Given the description of an element on the screen output the (x, y) to click on. 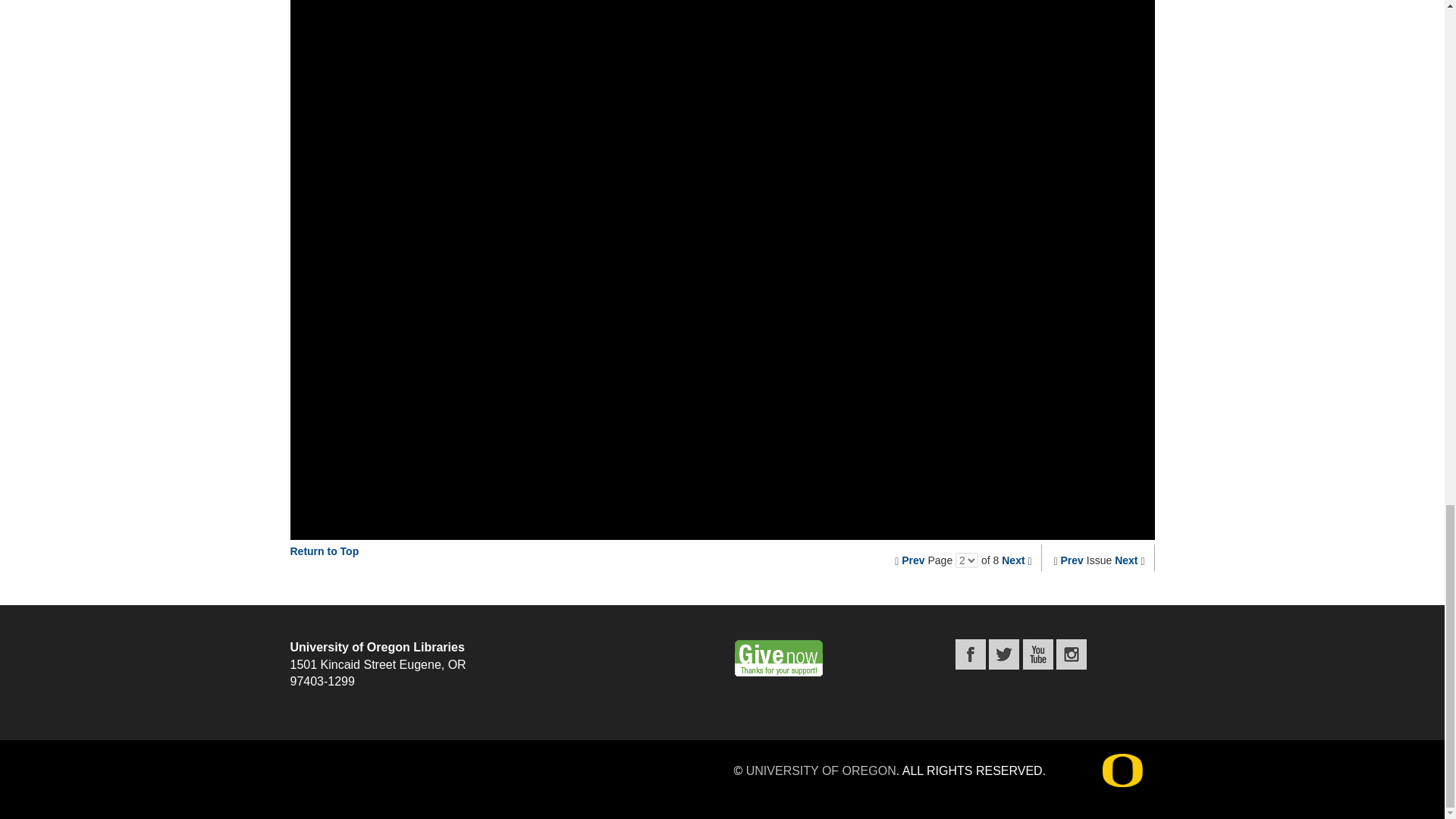
Next (1013, 560)
Prev (1072, 560)
Next (1126, 560)
Prev (912, 560)
Return to Top (323, 551)
